Given the description of an element on the screen output the (x, y) to click on. 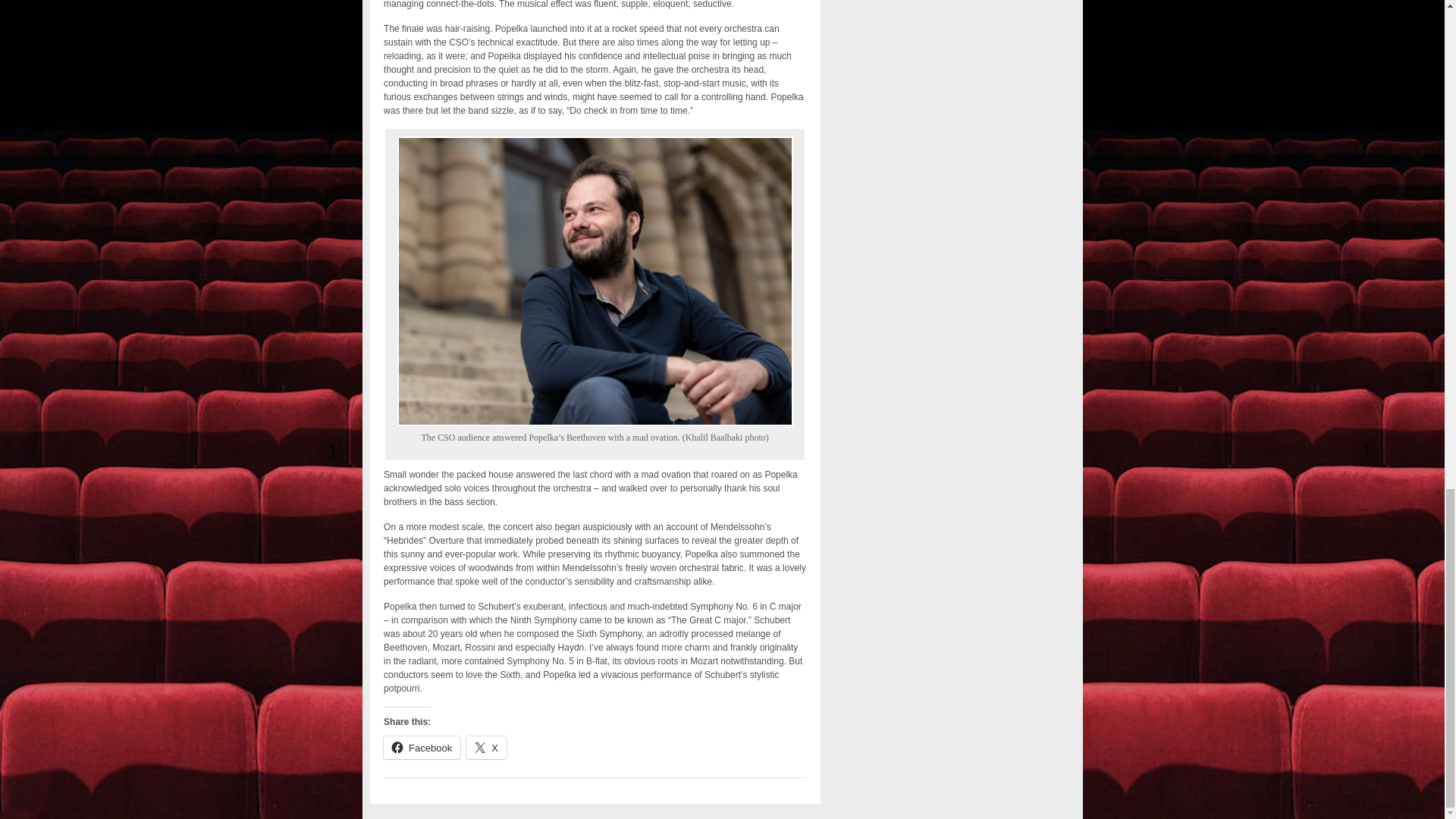
Click to share on X (485, 747)
X (485, 747)
Facebook (422, 747)
Click to share on Facebook (422, 747)
